Given the description of an element on the screen output the (x, y) to click on. 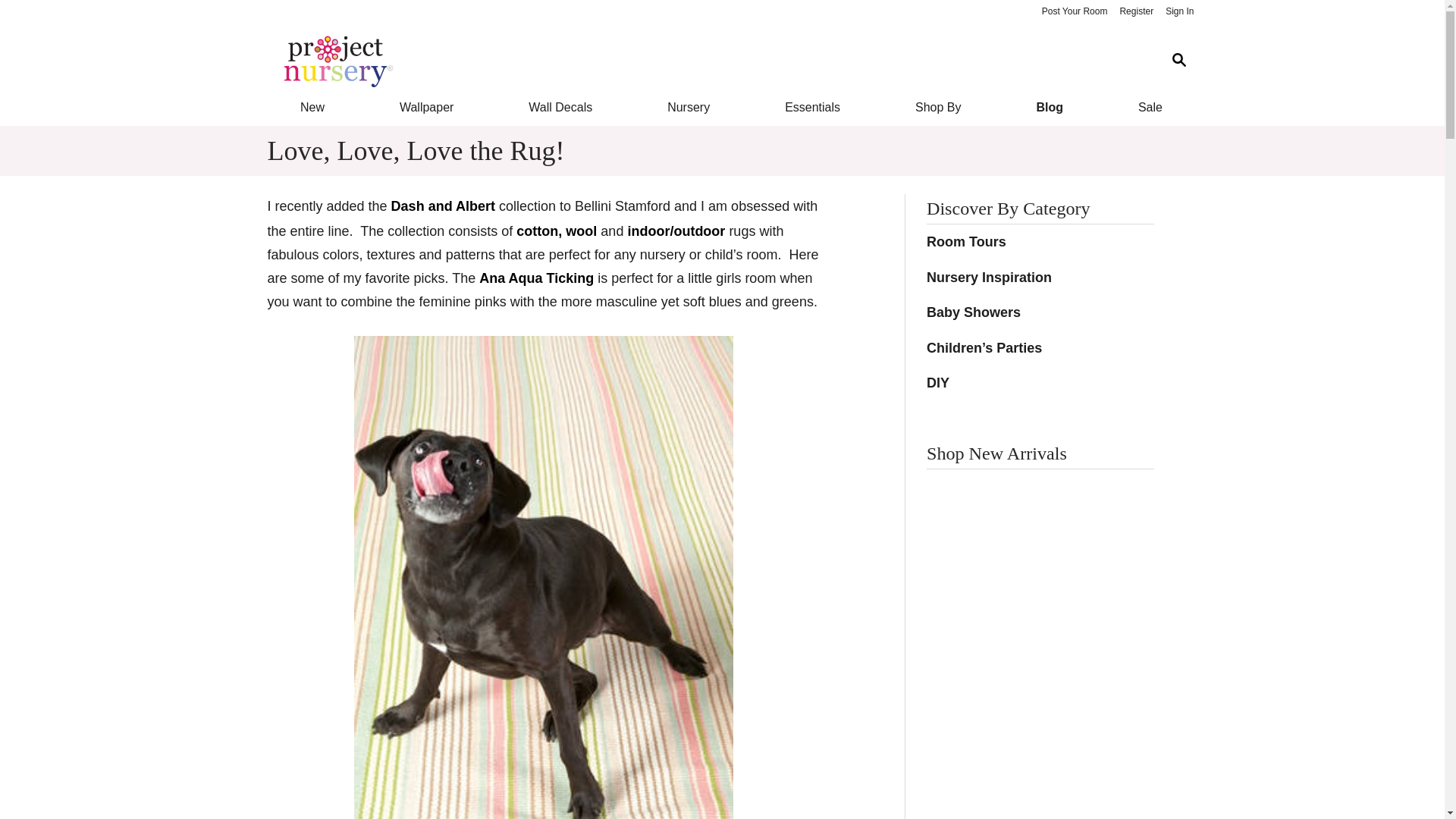
Nursery (689, 107)
Post Your Room (1074, 11)
Register (1135, 11)
Sign In (1178, 11)
Search (1178, 60)
Post Your Room (1074, 11)
New (311, 107)
Project Nursery (709, 60)
Wall Decals (561, 107)
Wallpaper (425, 107)
